Given the description of an element on the screen output the (x, y) to click on. 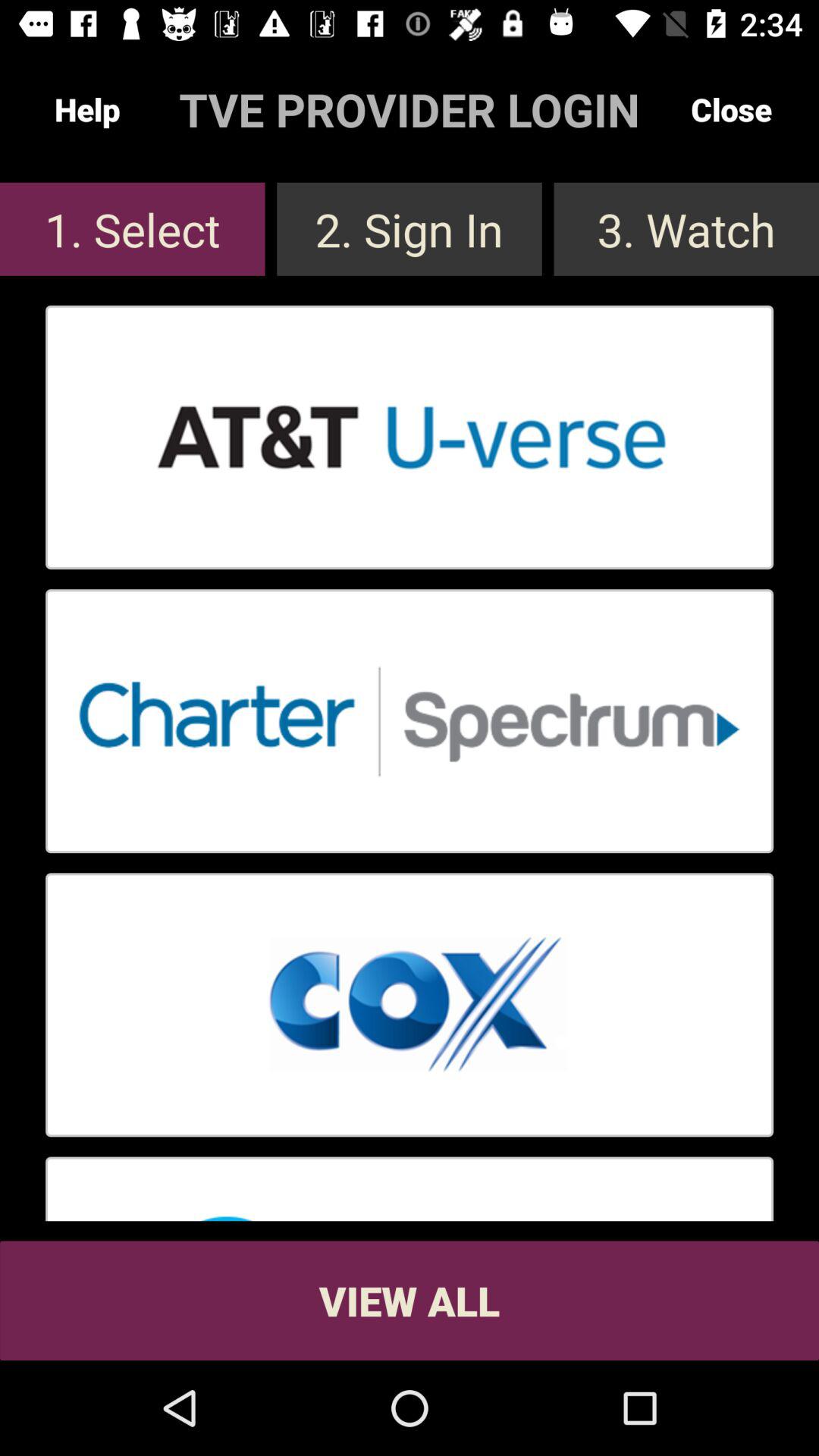
swipe until the view all icon (409, 1300)
